Given the description of an element on the screen output the (x, y) to click on. 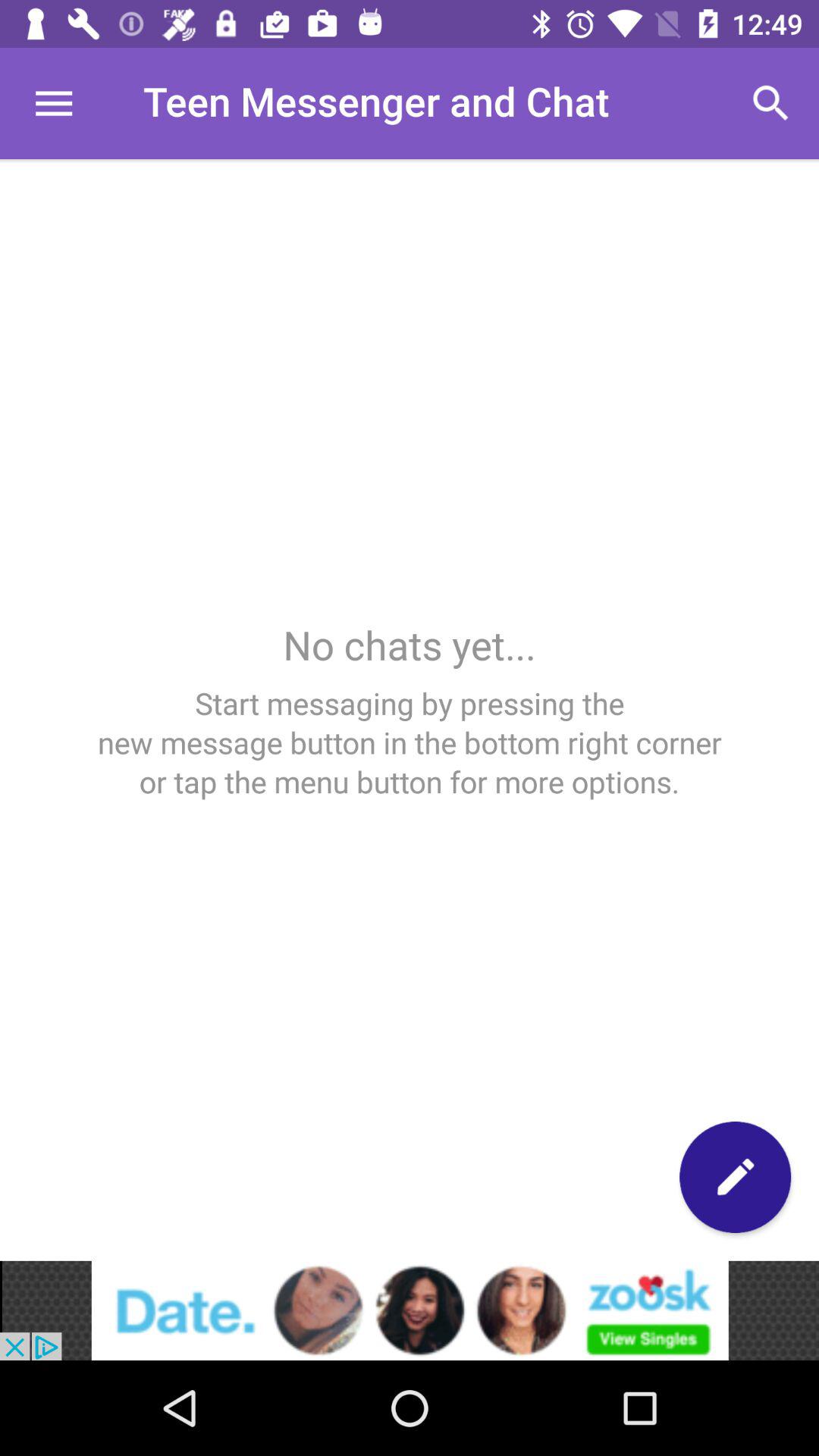
go to menu (53, 103)
